Given the description of an element on the screen output the (x, y) to click on. 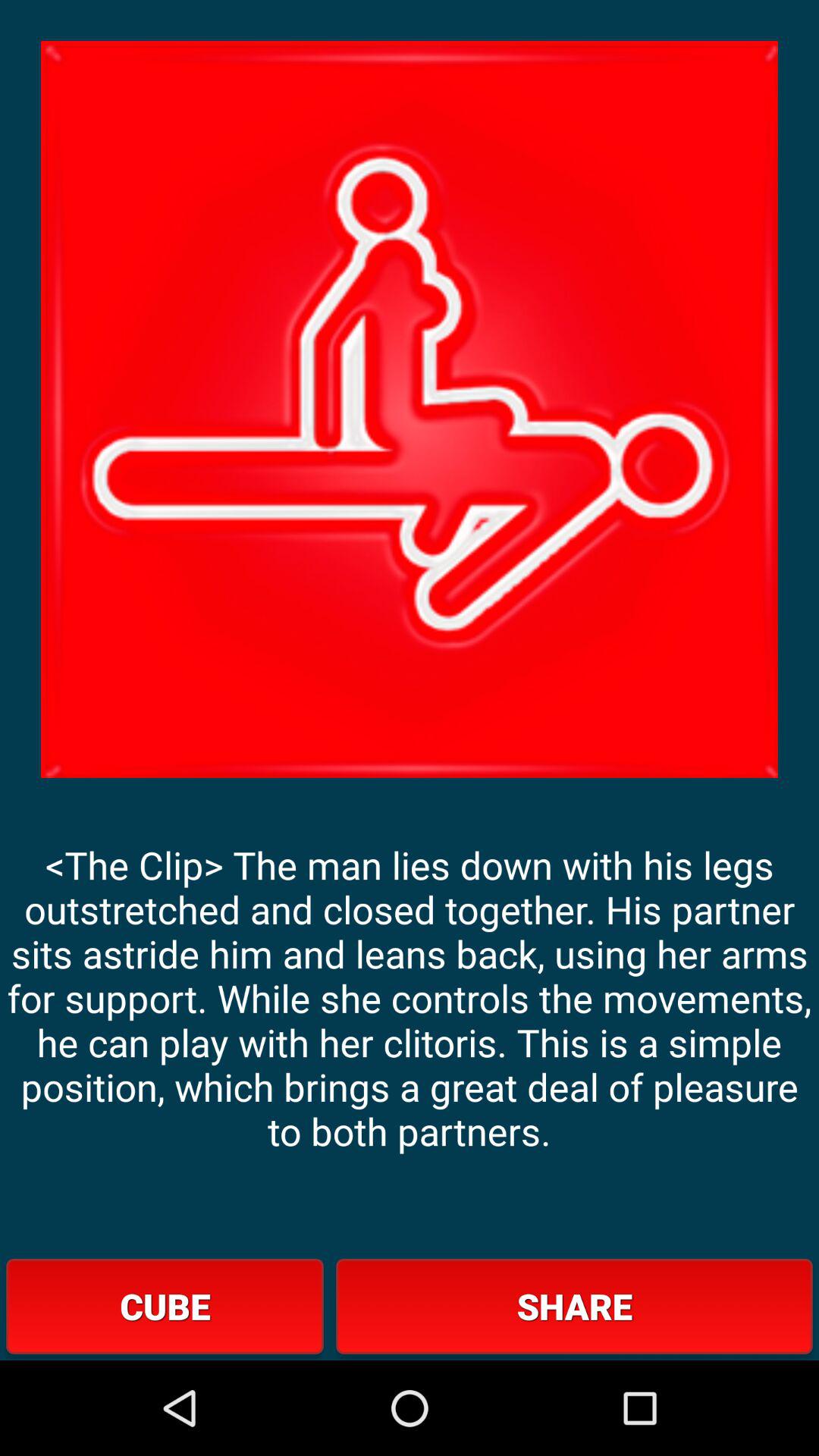
select cube icon (164, 1306)
